Given the description of an element on the screen output the (x, y) to click on. 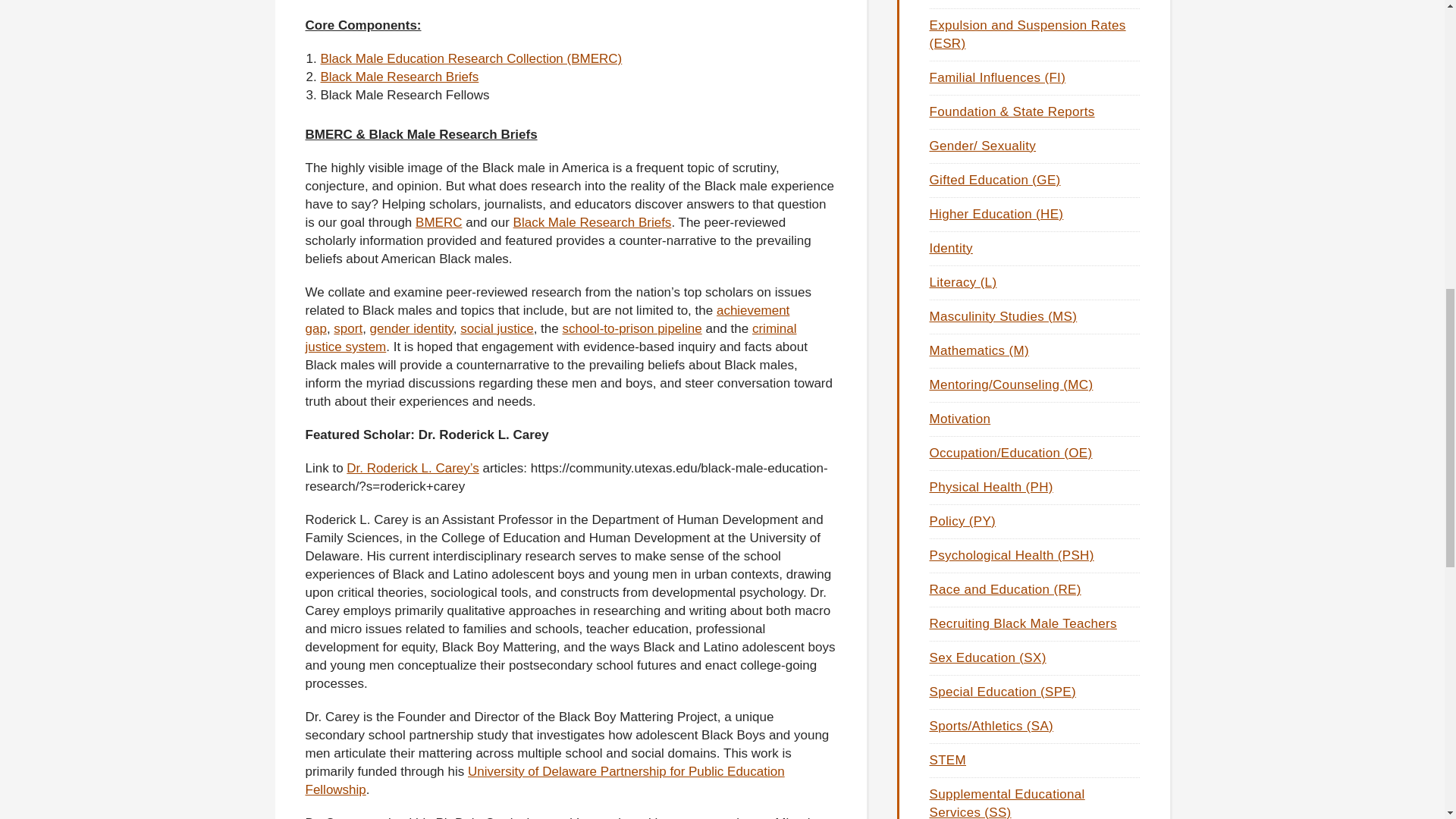
criminal justice system (550, 337)
Black Male Research Briefs (592, 222)
Black Male Research Briefs (399, 76)
sport (347, 328)
achievement gap (546, 319)
gender identity (410, 328)
school-to-prison pipeline (631, 328)
social justice (496, 328)
BMERC (437, 222)
